Given the description of an element on the screen output the (x, y) to click on. 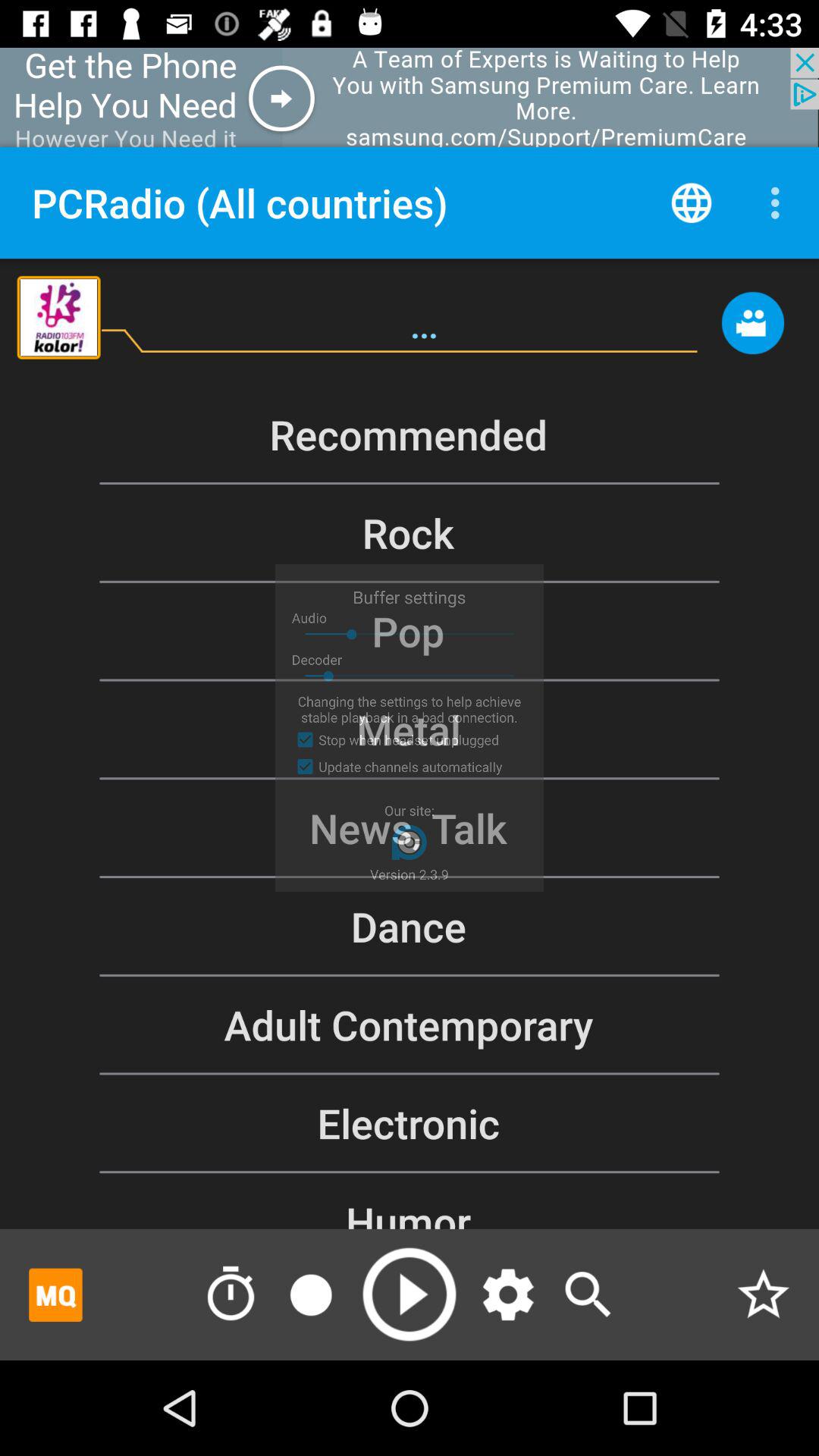
go to charch (588, 1294)
